Given the description of an element on the screen output the (x, y) to click on. 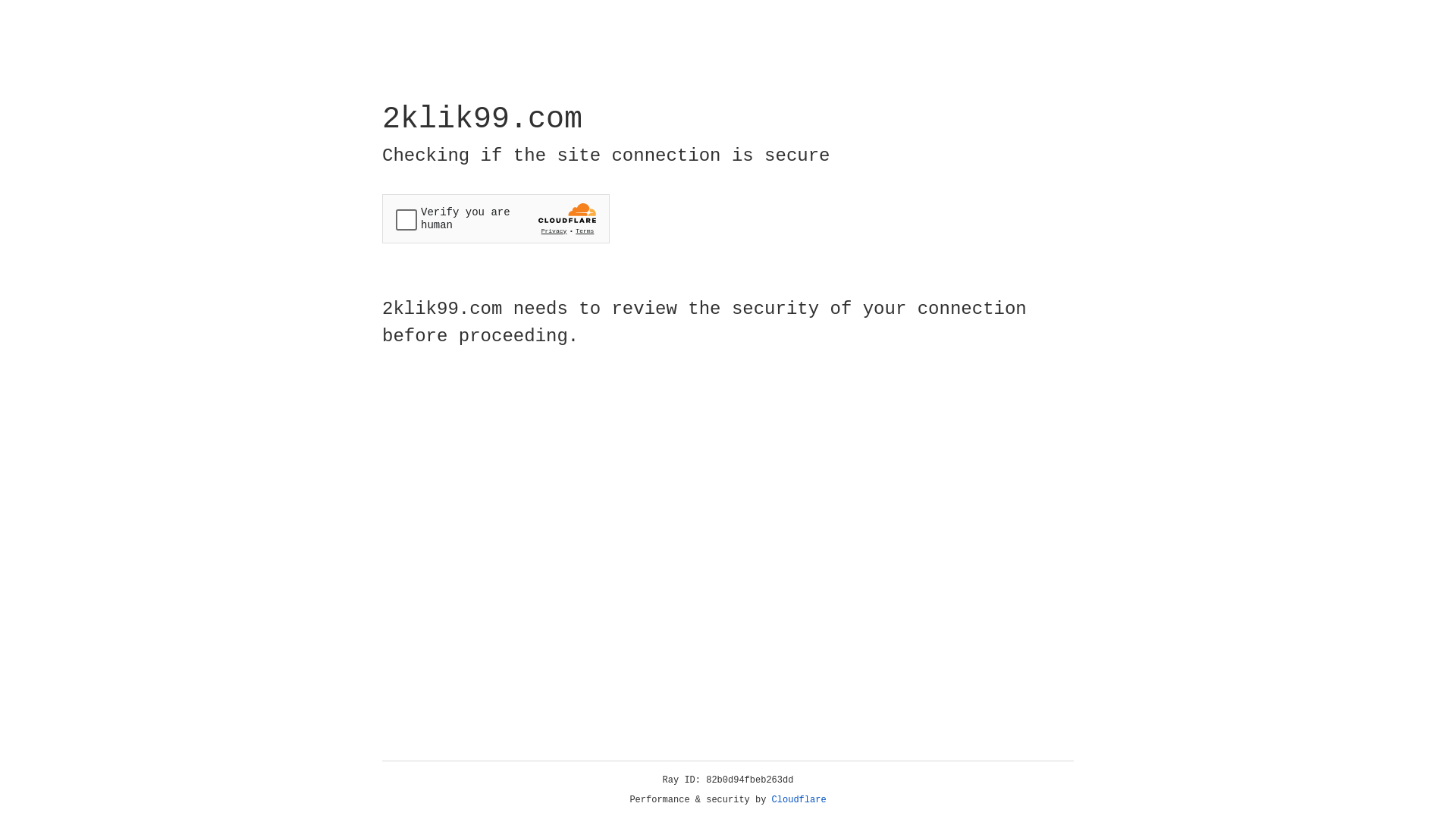
Widget containing a Cloudflare security challenge Element type: hover (495, 218)
Cloudflare Element type: text (798, 799)
